Given the description of an element on the screen output the (x, y) to click on. 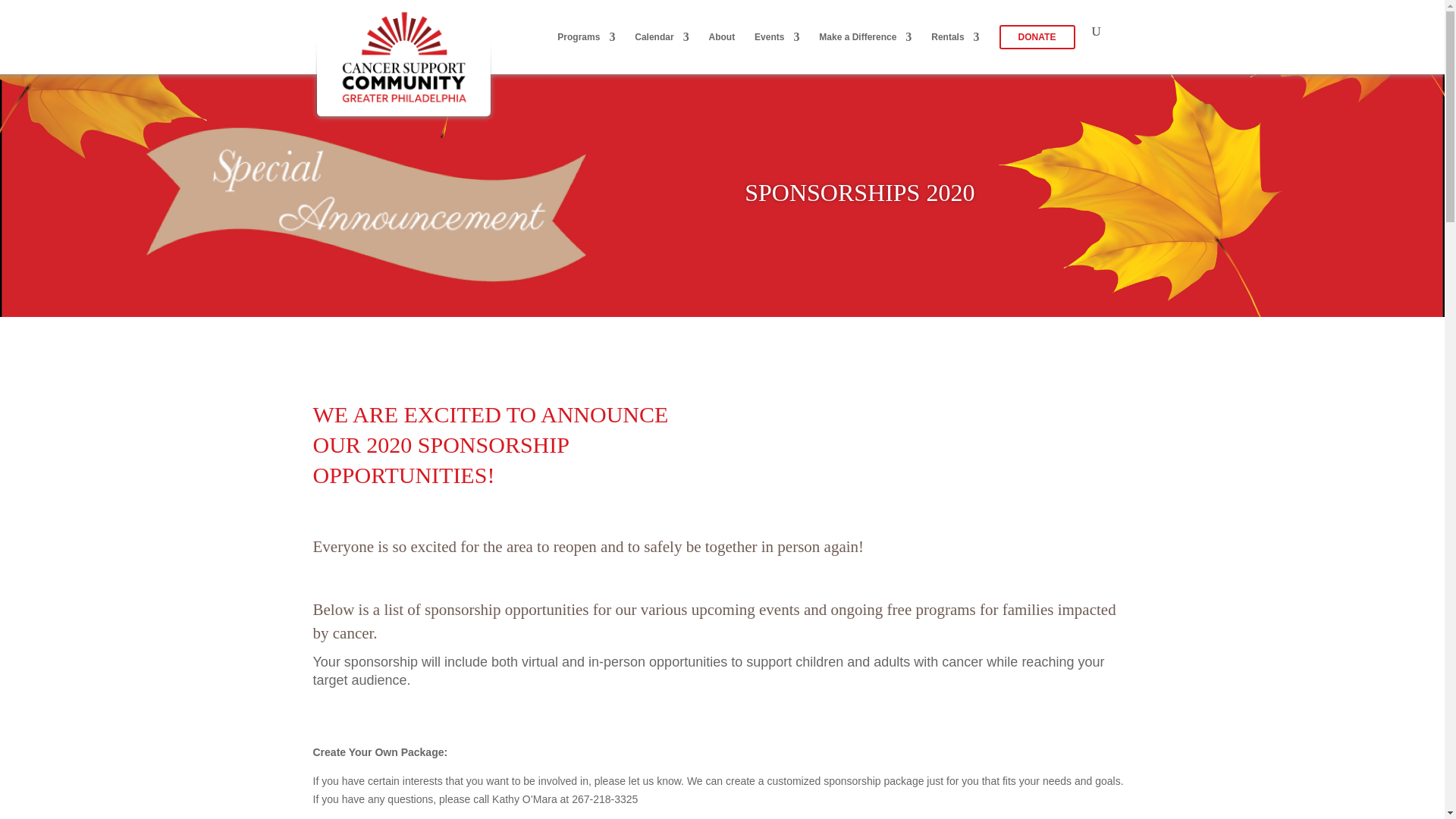
DONATE (1036, 49)
Events (776, 49)
Programs (585, 49)
Make a Difference (864, 49)
Calendar (661, 49)
Rentals (954, 49)
